Given the description of an element on the screen output the (x, y) to click on. 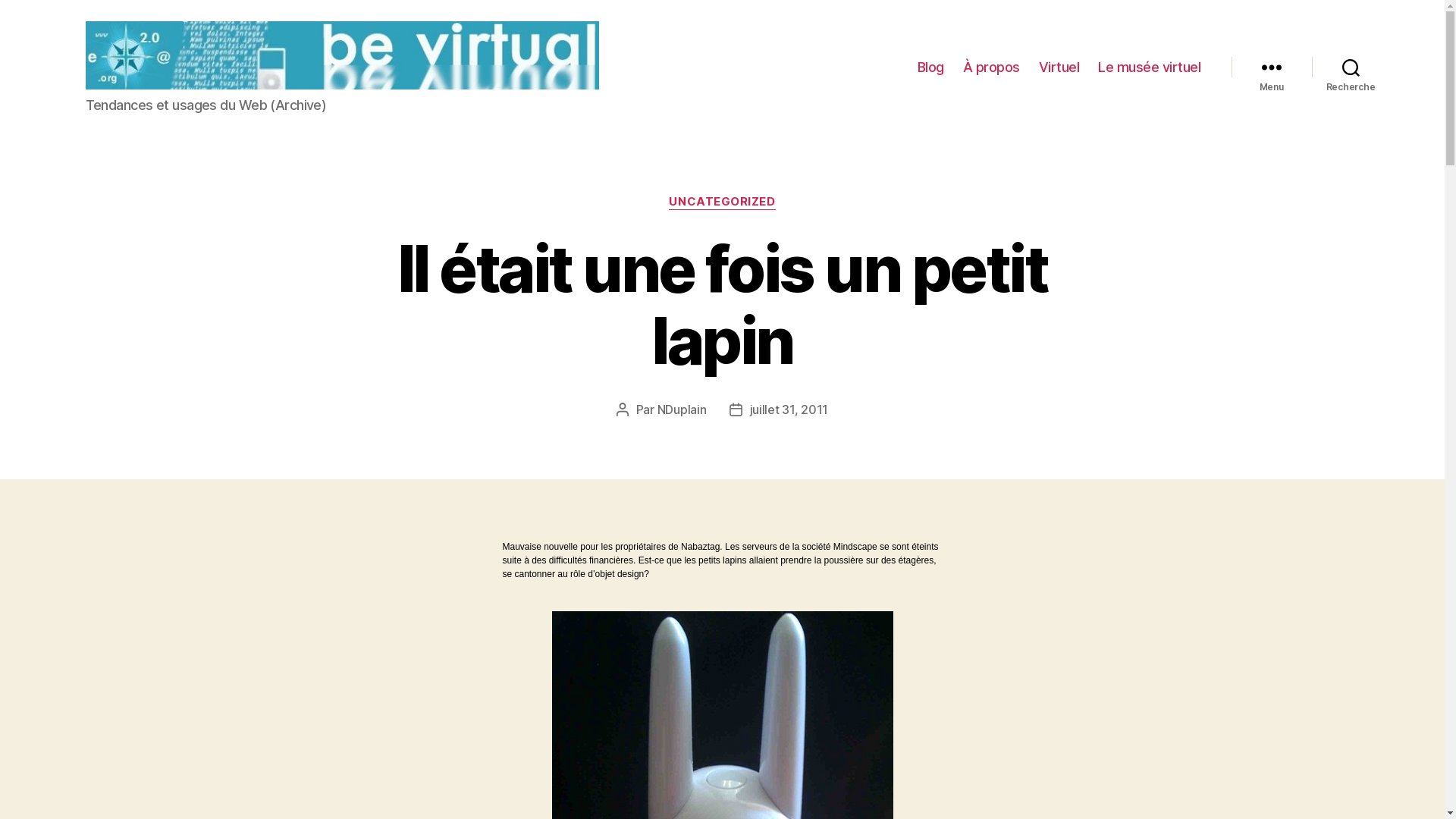
juillet 31, 2011 Element type: text (788, 409)
Recherche Element type: text (1350, 66)
Virtuel Element type: text (1058, 67)
UNCATEGORIZED Element type: text (721, 202)
Blog Element type: text (930, 67)
Menu Element type: text (1271, 66)
NDuplain Element type: text (681, 409)
